Given the description of an element on the screen output the (x, y) to click on. 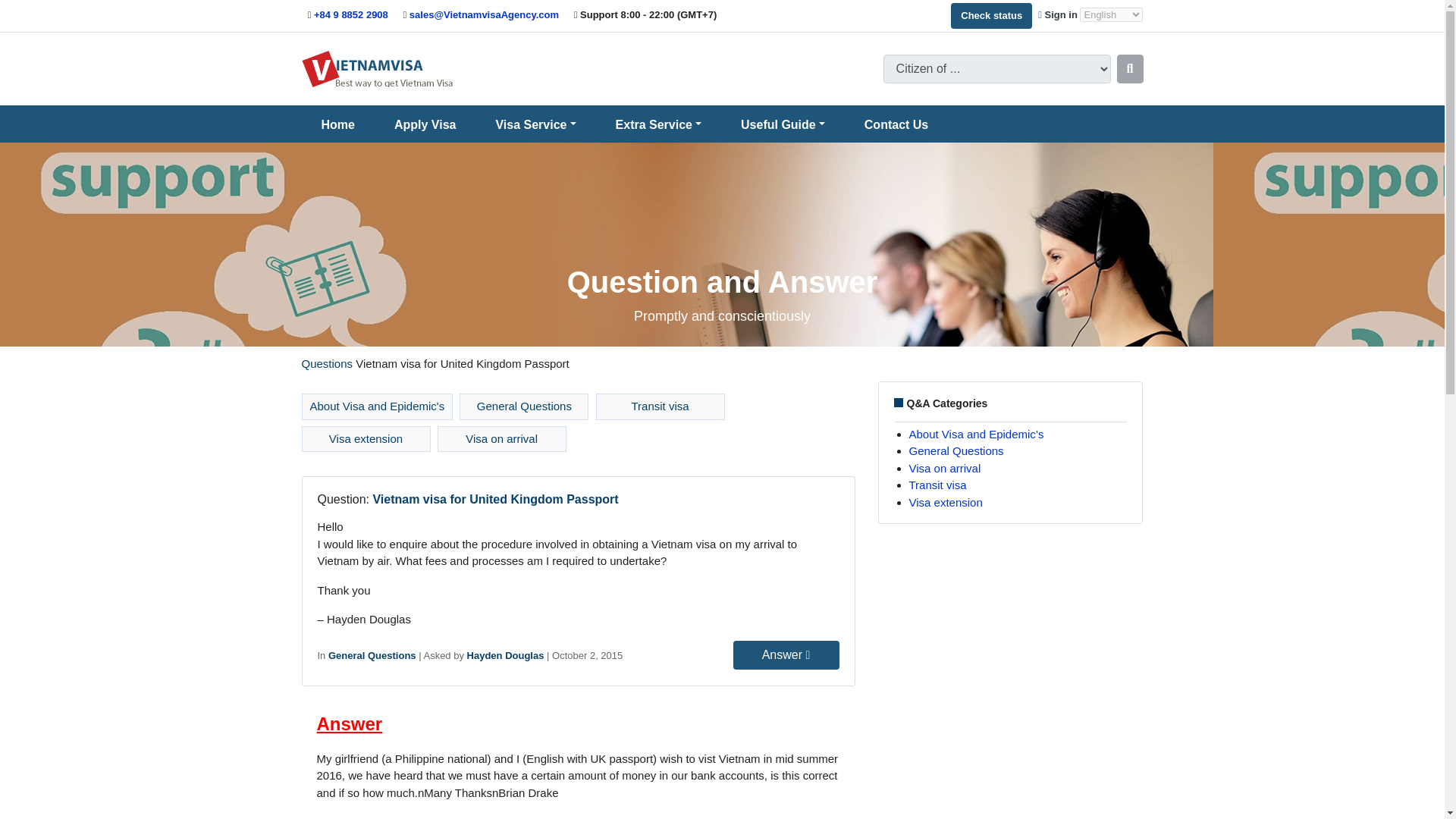
Sign in (1059, 14)
Useful Guide (783, 123)
Home (338, 123)
Home (338, 123)
Check status (991, 15)
Visa Service (534, 123)
Extra Service (658, 123)
Useful Guide (783, 123)
Apply Visa (425, 123)
Apply Visa (425, 123)
Visa Service (534, 123)
Contact Us (896, 123)
Check status (991, 15)
Sign in (1059, 14)
Vietnam visa, Apply Vietnam visa on arrival online (376, 67)
